Given the description of an element on the screen output the (x, y) to click on. 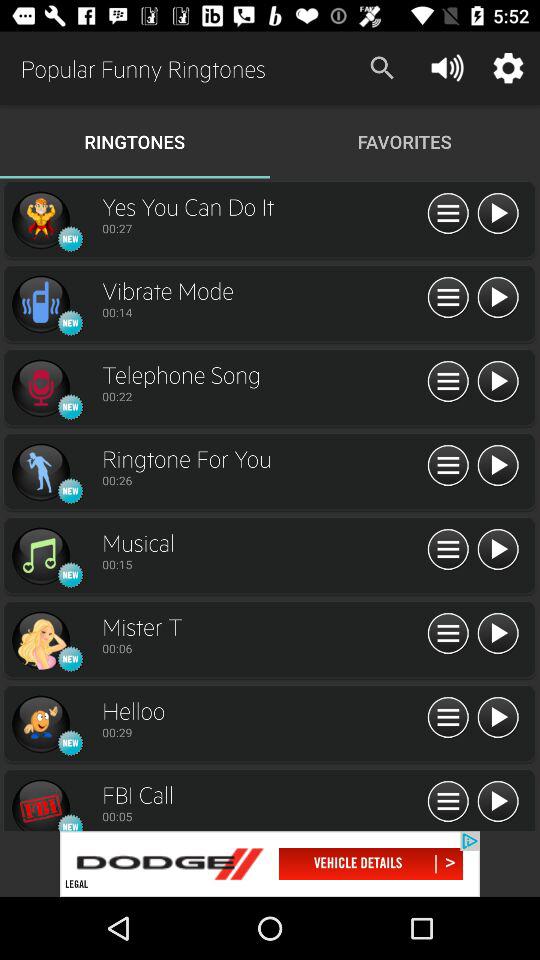
go to next (497, 465)
